Given the description of an element on the screen output the (x, y) to click on. 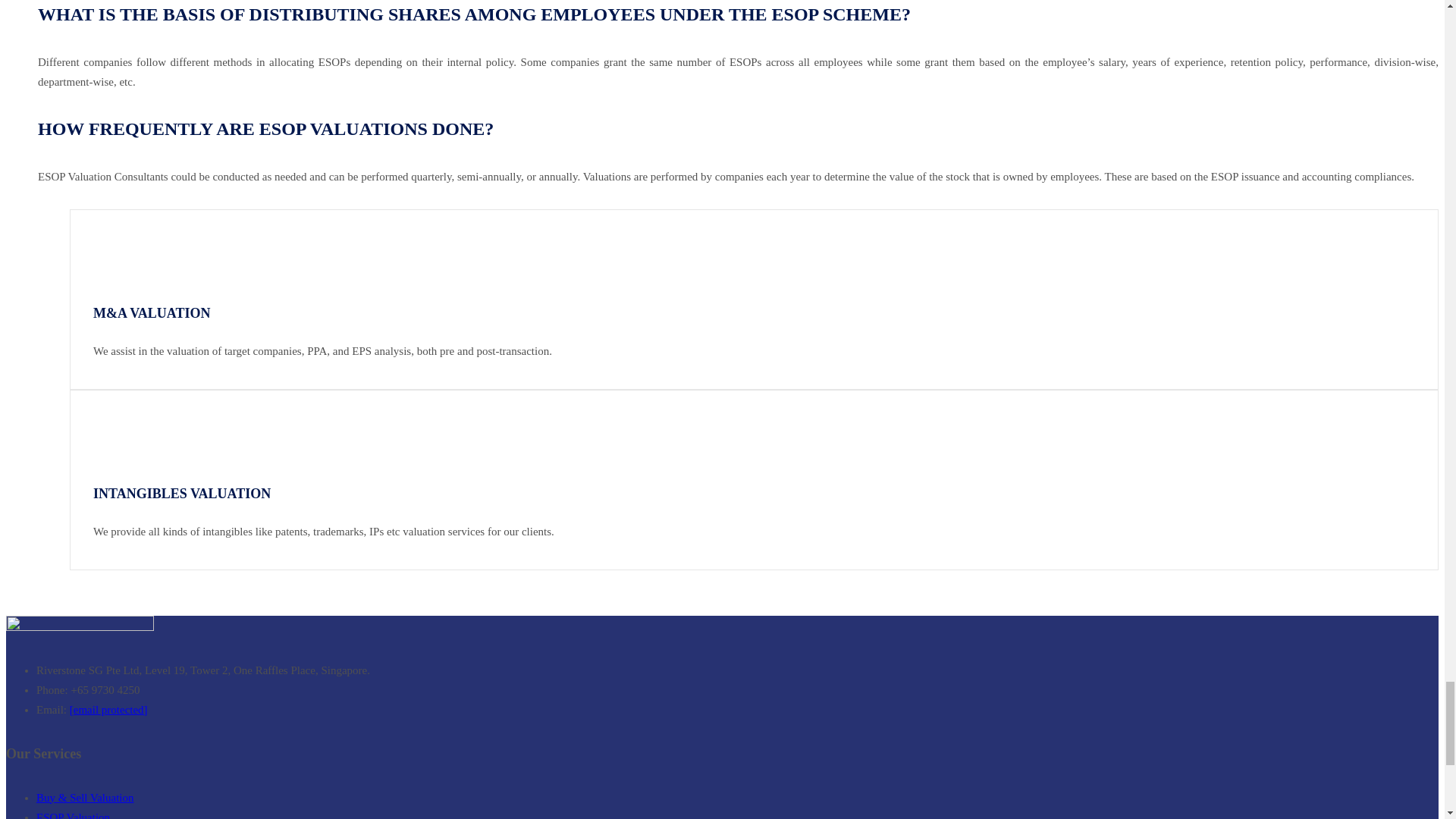
ESOP Valuation 12 (120, 433)
ESOP Valuation 11 (120, 253)
